Given the description of an element on the screen output the (x, y) to click on. 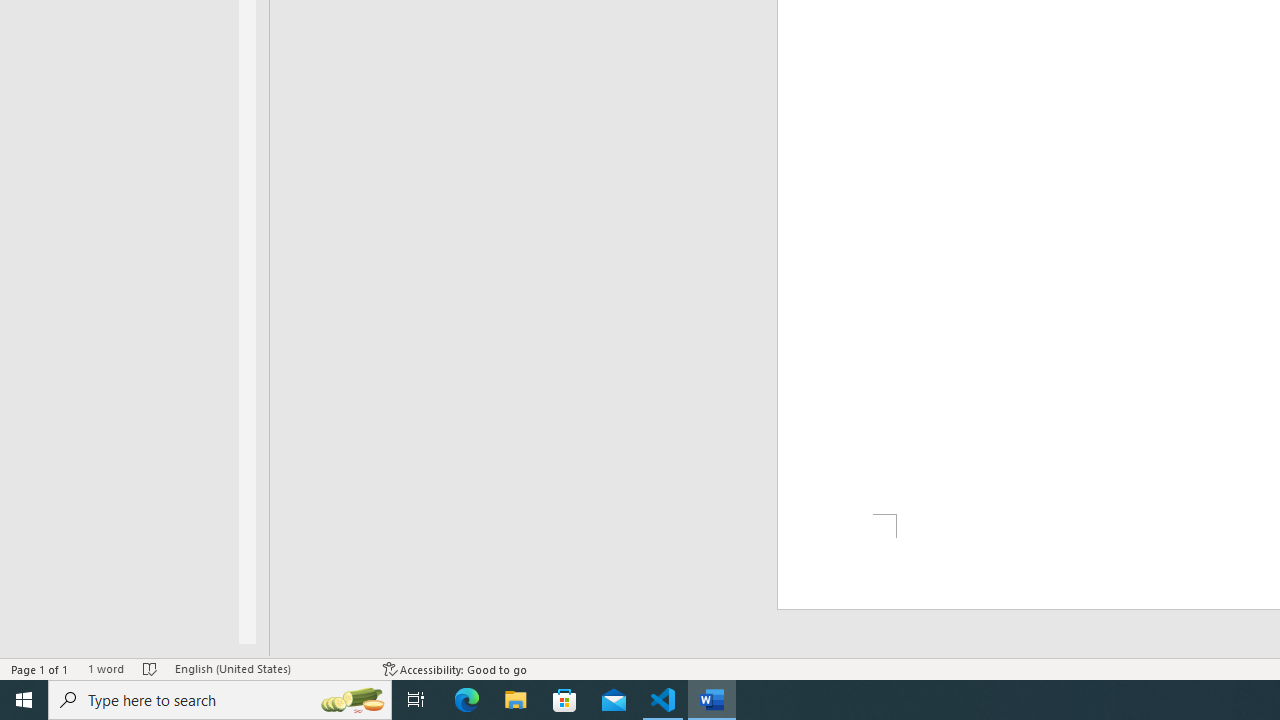
Page Number Page 1 of 1 (39, 668)
Spelling and Grammar Check No Errors (150, 668)
